Given the description of an element on the screen output the (x, y) to click on. 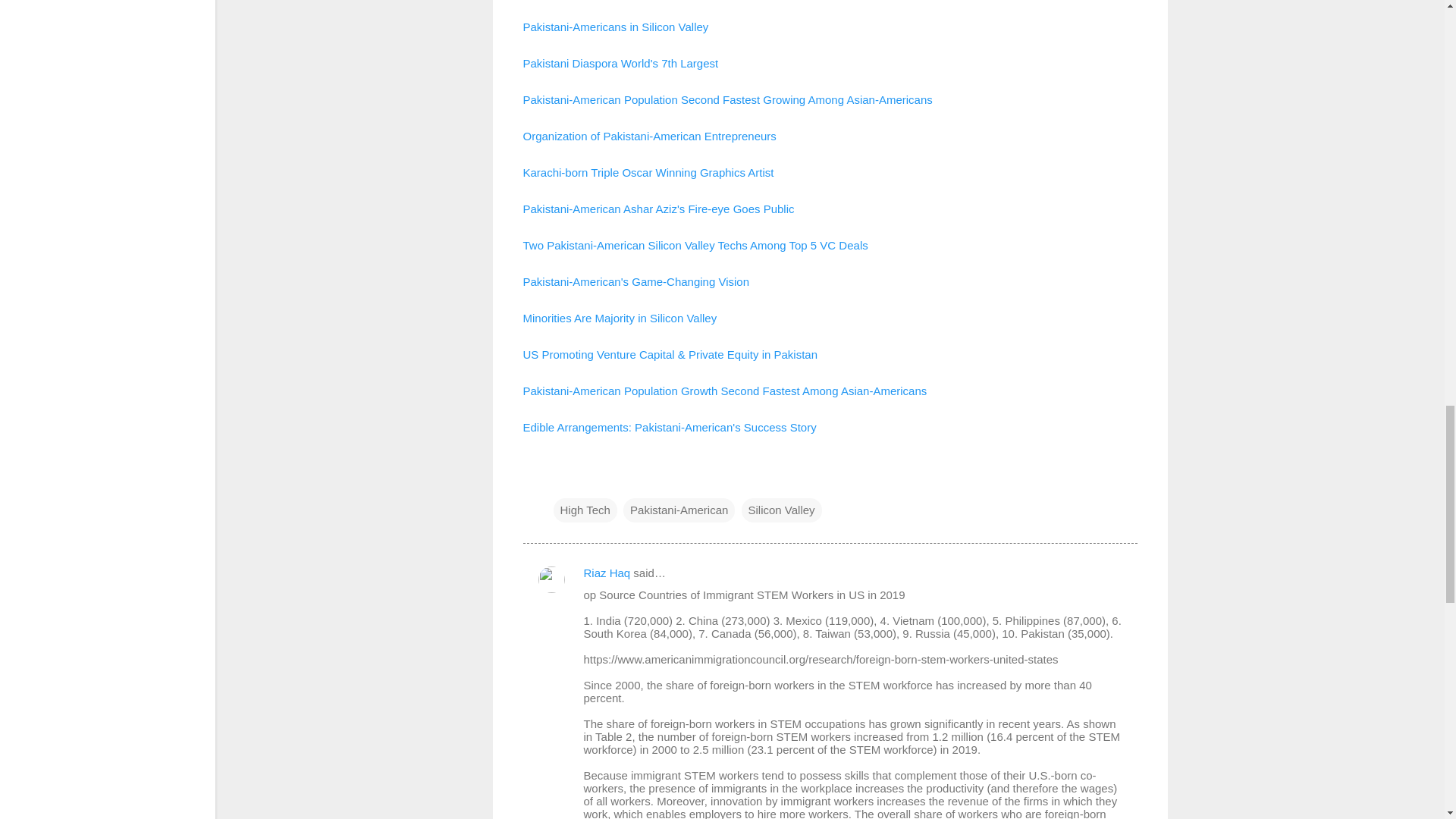
Pakistani-American Ashar Aziz's Fire-eye Goes Public (658, 207)
Pakistani-American's Game-Changing Vision  (637, 280)
Organization of Pakistani-American Entrepreneurs (649, 134)
Email Post (562, 479)
Pakistani Diaspora World's 7th Largest (620, 62)
Minorities Are Majority in Silicon Valley  (621, 317)
Karachi-born Triple Oscar Winning Graphics Artist (648, 171)
Pakistani-Americans in Silicon Valley (615, 25)
High Tech (585, 509)
Edible Arrangements: Pakistani-American's Success Story (669, 426)
